Given the description of an element on the screen output the (x, y) to click on. 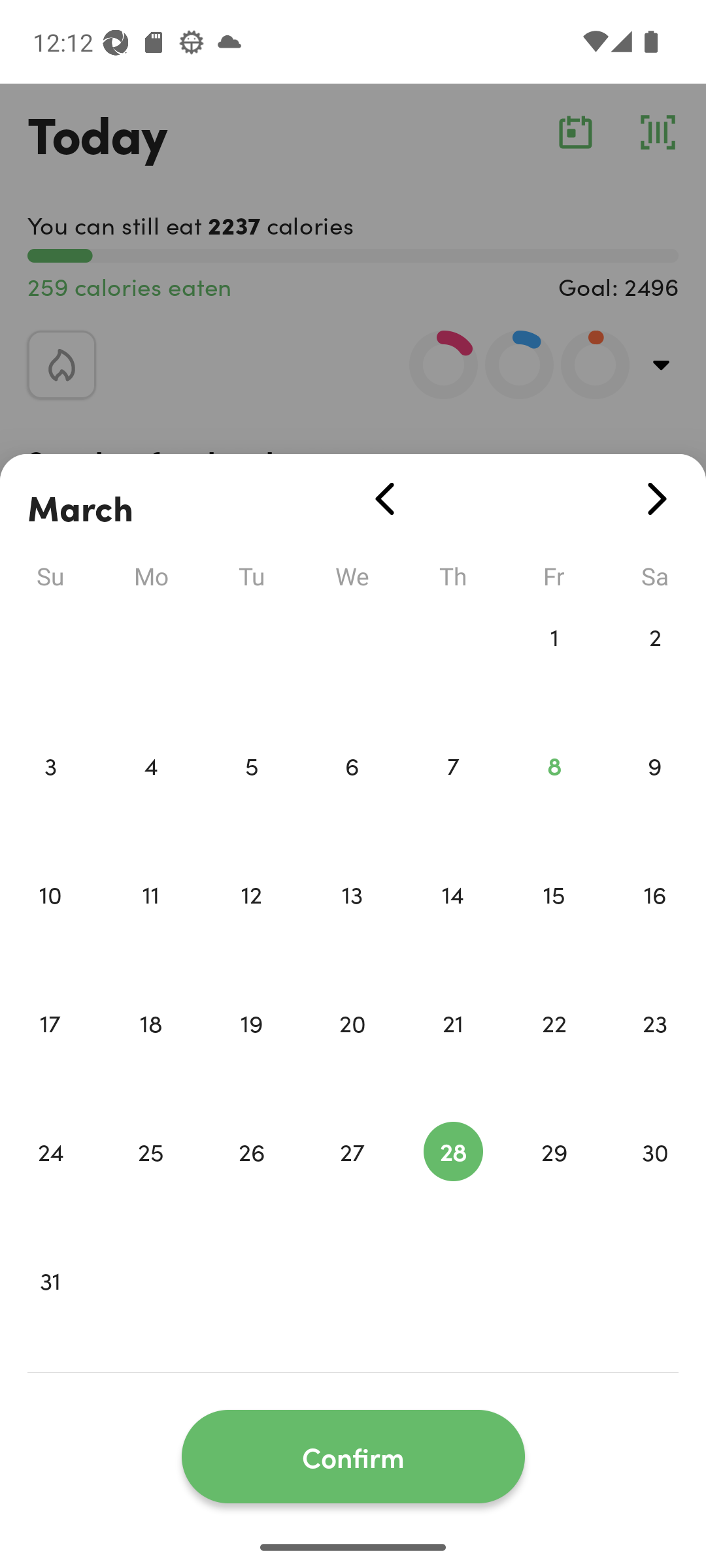
1 (554, 663)
2 (655, 663)
3 (50, 793)
4 (150, 793)
5 (251, 793)
6 (352, 793)
7 (453, 793)
8 (554, 793)
9 (655, 793)
10 (50, 921)
11 (150, 921)
12 (251, 921)
13 (352, 921)
14 (453, 921)
15 (554, 921)
16 (655, 921)
17 (50, 1050)
18 (150, 1050)
19 (251, 1050)
20 (352, 1050)
21 (453, 1050)
22 (554, 1050)
23 (655, 1050)
24 (50, 1178)
25 (150, 1178)
26 (251, 1178)
27 (352, 1178)
28 (453, 1178)
29 (554, 1178)
30 (655, 1178)
31 (50, 1307)
Confirm (353, 1456)
